Given the description of an element on the screen output the (x, y) to click on. 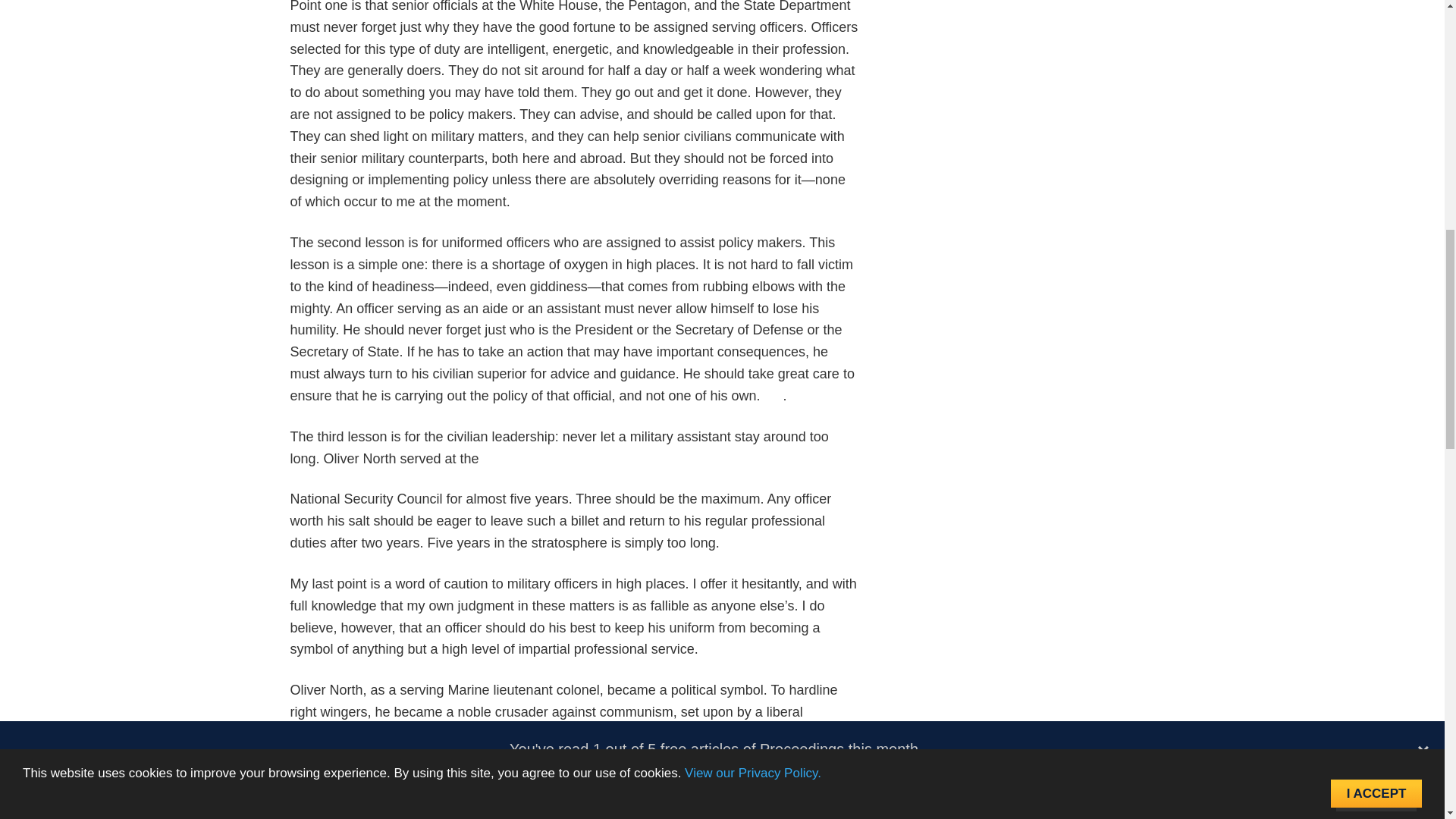
3rd party ad content (1017, 62)
I ACCEPT (1376, 20)
View our Privacy Policy. (752, 32)
